Given the description of an element on the screen output the (x, y) to click on. 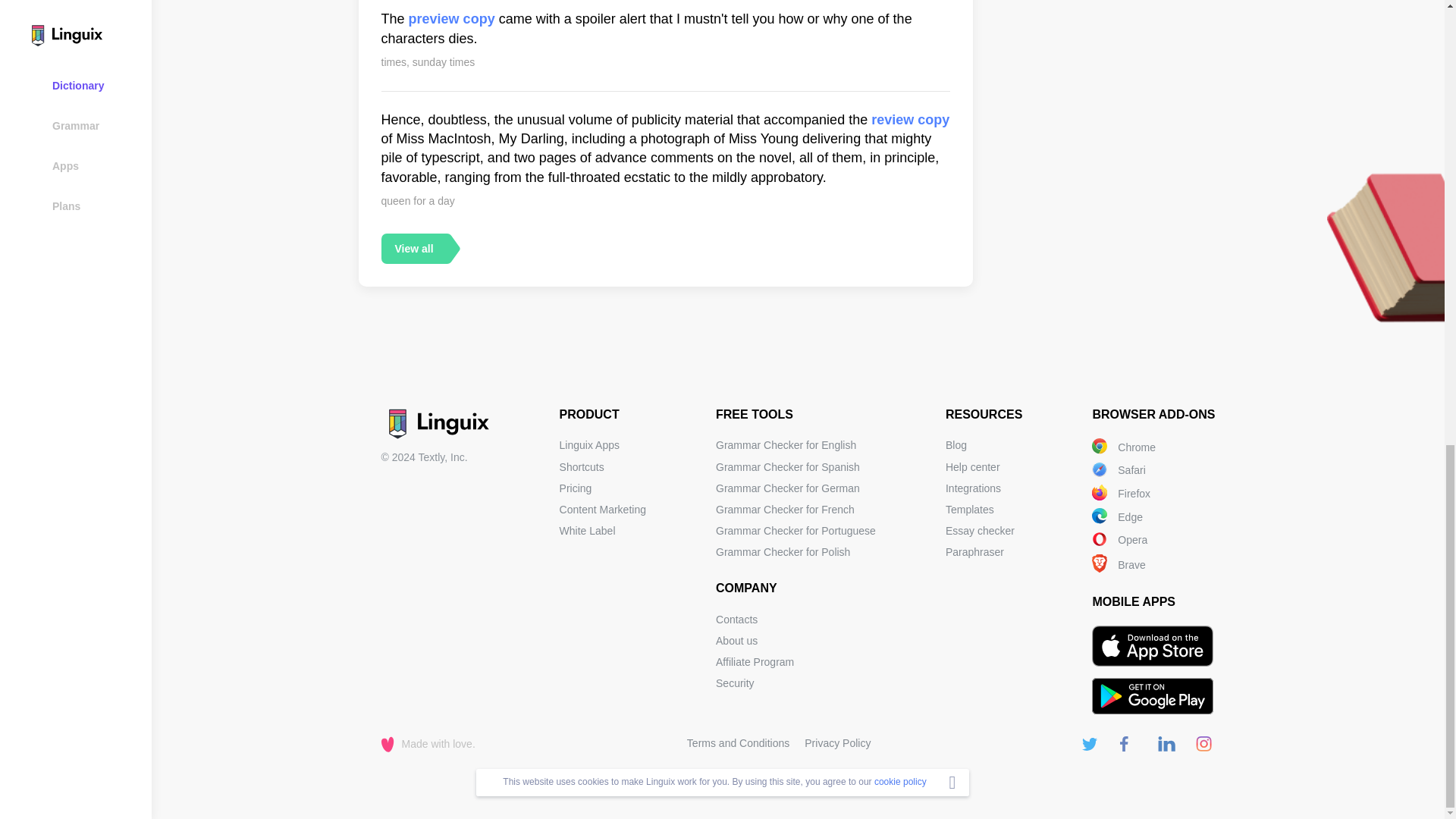
Grammar Checker for French (785, 509)
Grammar Checker for Portuguese (796, 530)
Essay checker (979, 530)
Paraphraser (974, 551)
Grammar Checker for Polish (783, 551)
Shortcuts (581, 467)
View all (413, 248)
Grammar Checker for English (786, 444)
Grammar Checker for German (788, 488)
Grammar Checker for Spanish (788, 467)
